Given the description of an element on the screen output the (x, y) to click on. 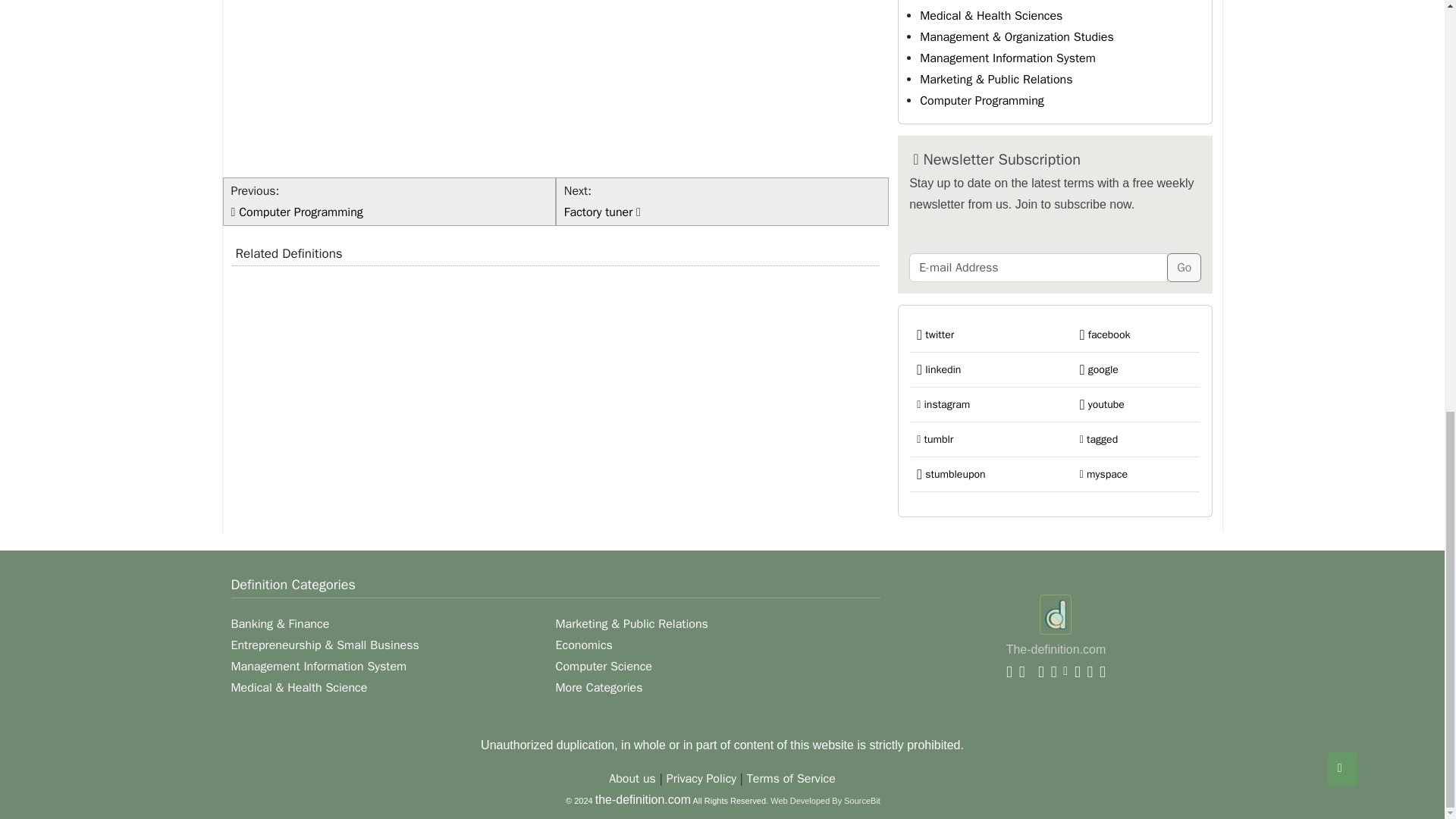
Management Information System (1008, 58)
facebook (1105, 334)
Management Information System (1008, 58)
Advertisement (555, 84)
Go (1184, 267)
Go (1184, 267)
Computer Programming (981, 100)
Computer Programming (981, 100)
Factory tuner (600, 212)
Computer Programming (300, 212)
